Given the description of an element on the screen output the (x, y) to click on. 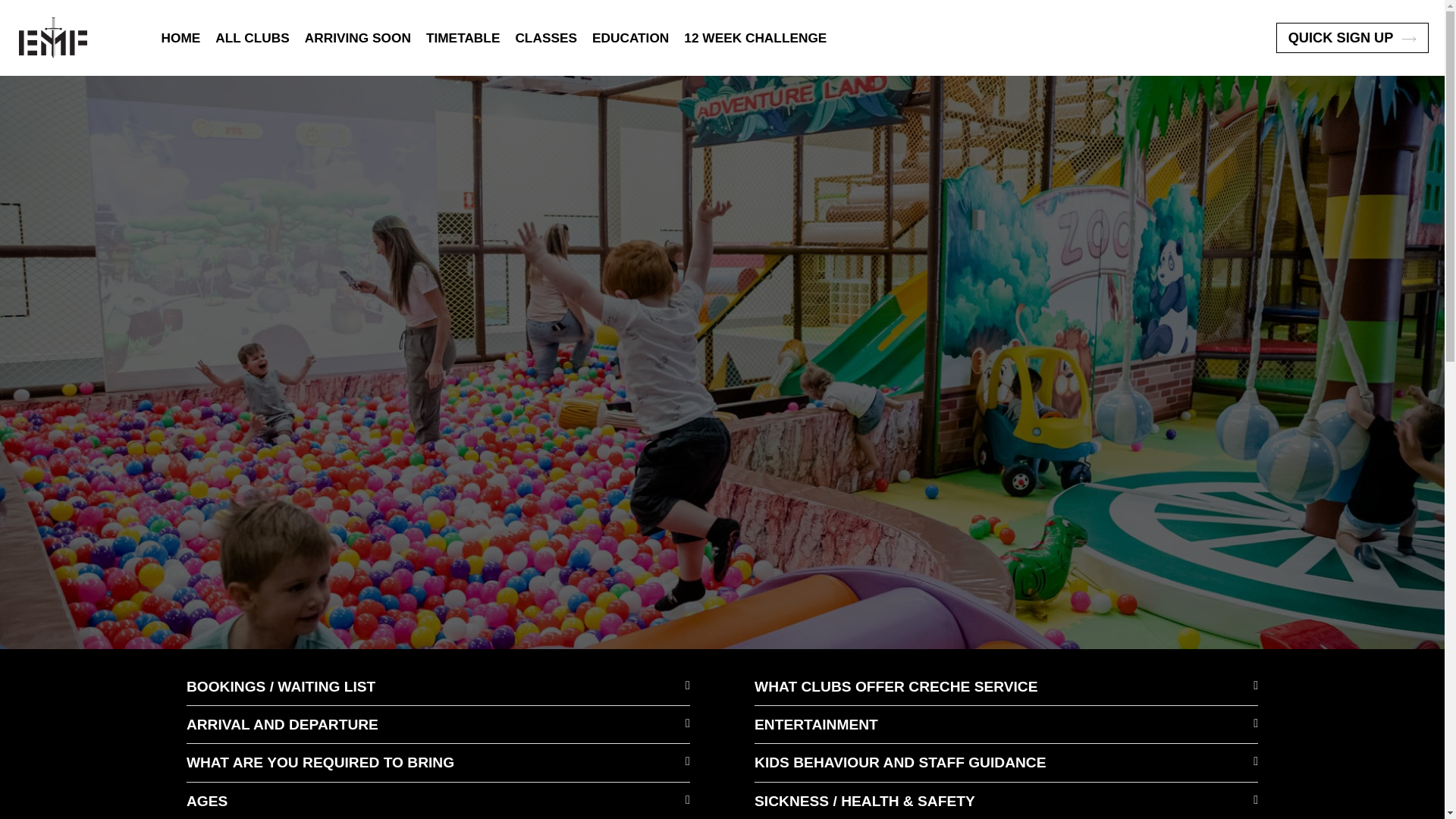
QUICK SIGN UP (1352, 37)
ARRIVING SOON (357, 37)
TIMETABLE (463, 37)
AGES (206, 801)
ALL CLUBS (252, 37)
CLASSES (545, 37)
EDUCATION (630, 37)
12 WEEK CHALLENGE (755, 37)
ARRIVAL AND DEPARTURE (282, 724)
HOME (180, 37)
